Given the description of an element on the screen output the (x, y) to click on. 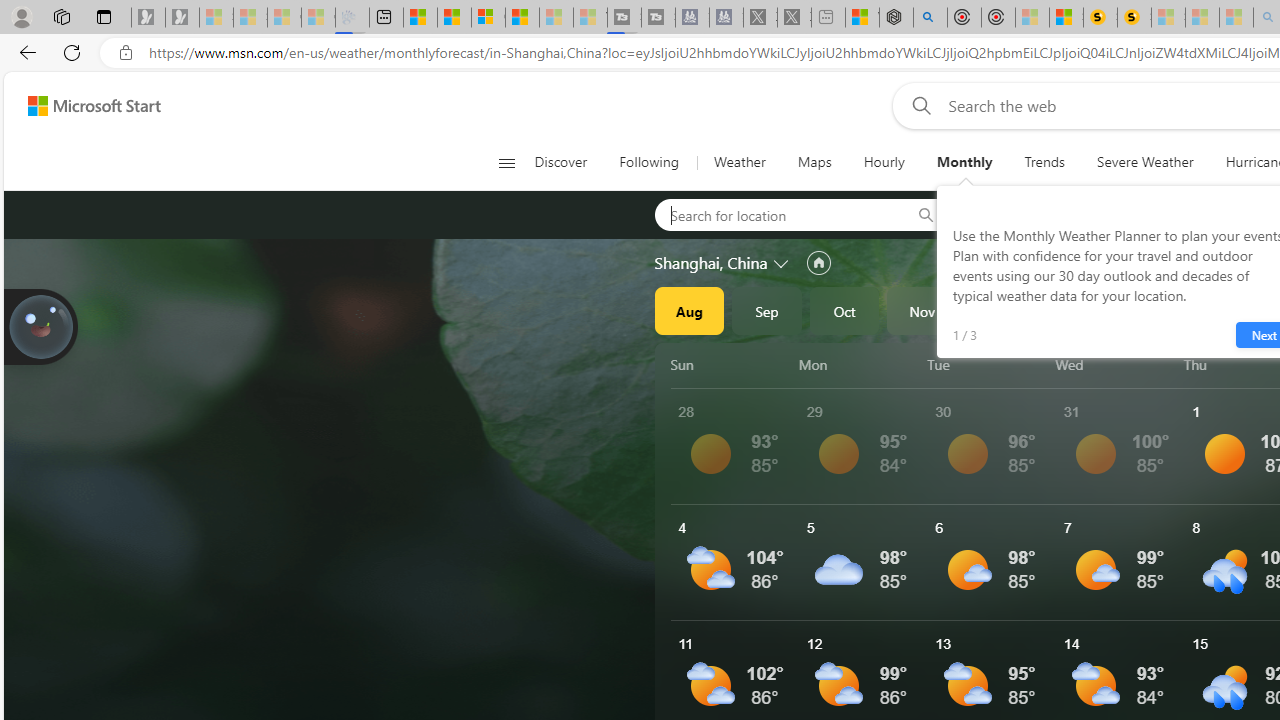
Weather (738, 162)
Mar (1233, 310)
Feb (1155, 310)
Join us in planting real trees to help our planet! (40, 327)
Oct (844, 310)
